Given the description of an element on the screen output the (x, y) to click on. 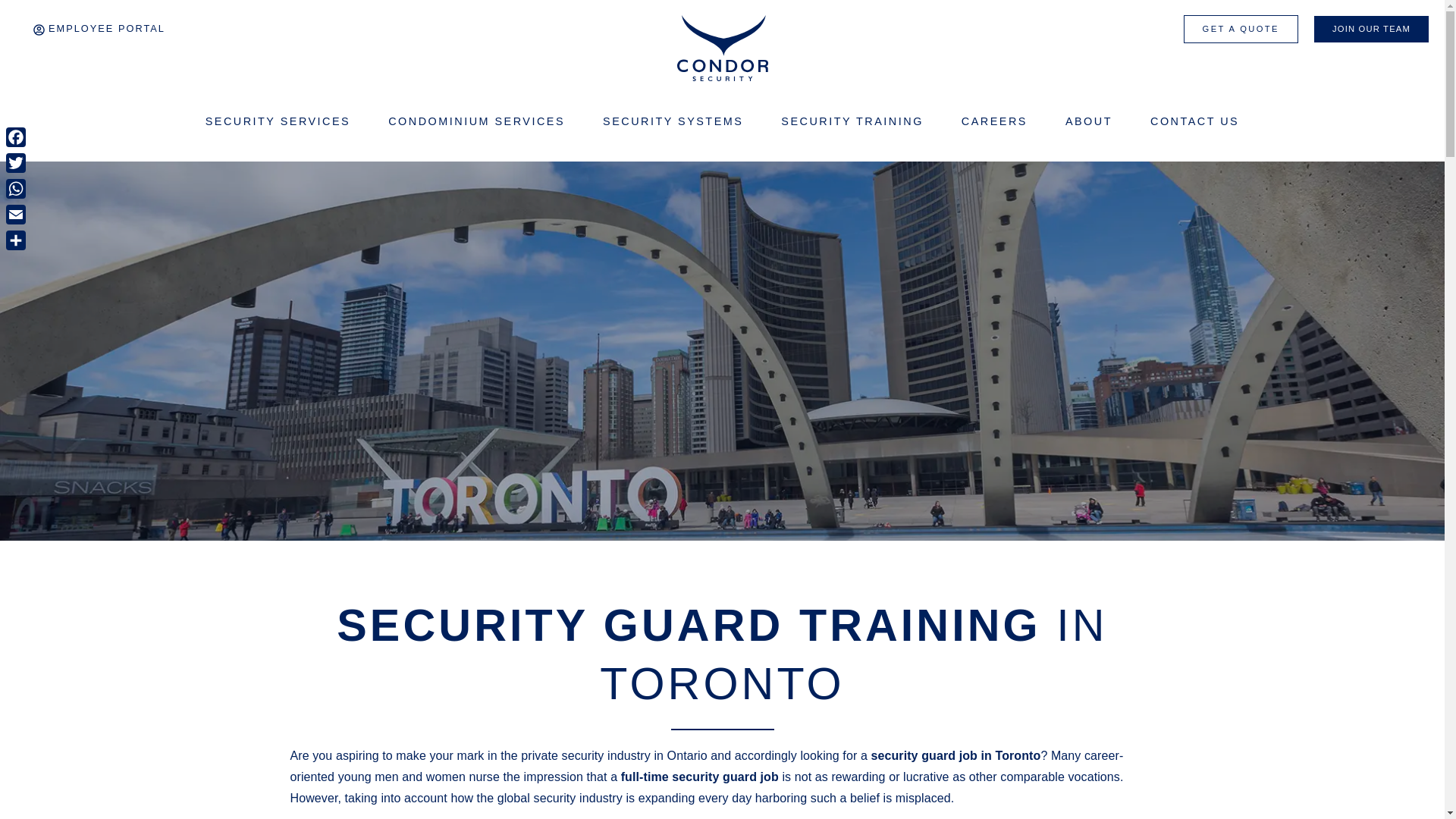
Twitter (15, 162)
SECURITY SERVICES (282, 121)
EMPLOYEE PORTAL (98, 30)
WhatsApp (15, 188)
JOIN OUR TEAM (1371, 29)
SECURITY SYSTEMS (676, 121)
CONDOMINIUM SERVICES (480, 121)
Email (15, 214)
GET A QUOTE (1240, 29)
SECURITY TRAINING (855, 121)
